Given the description of an element on the screen output the (x, y) to click on. 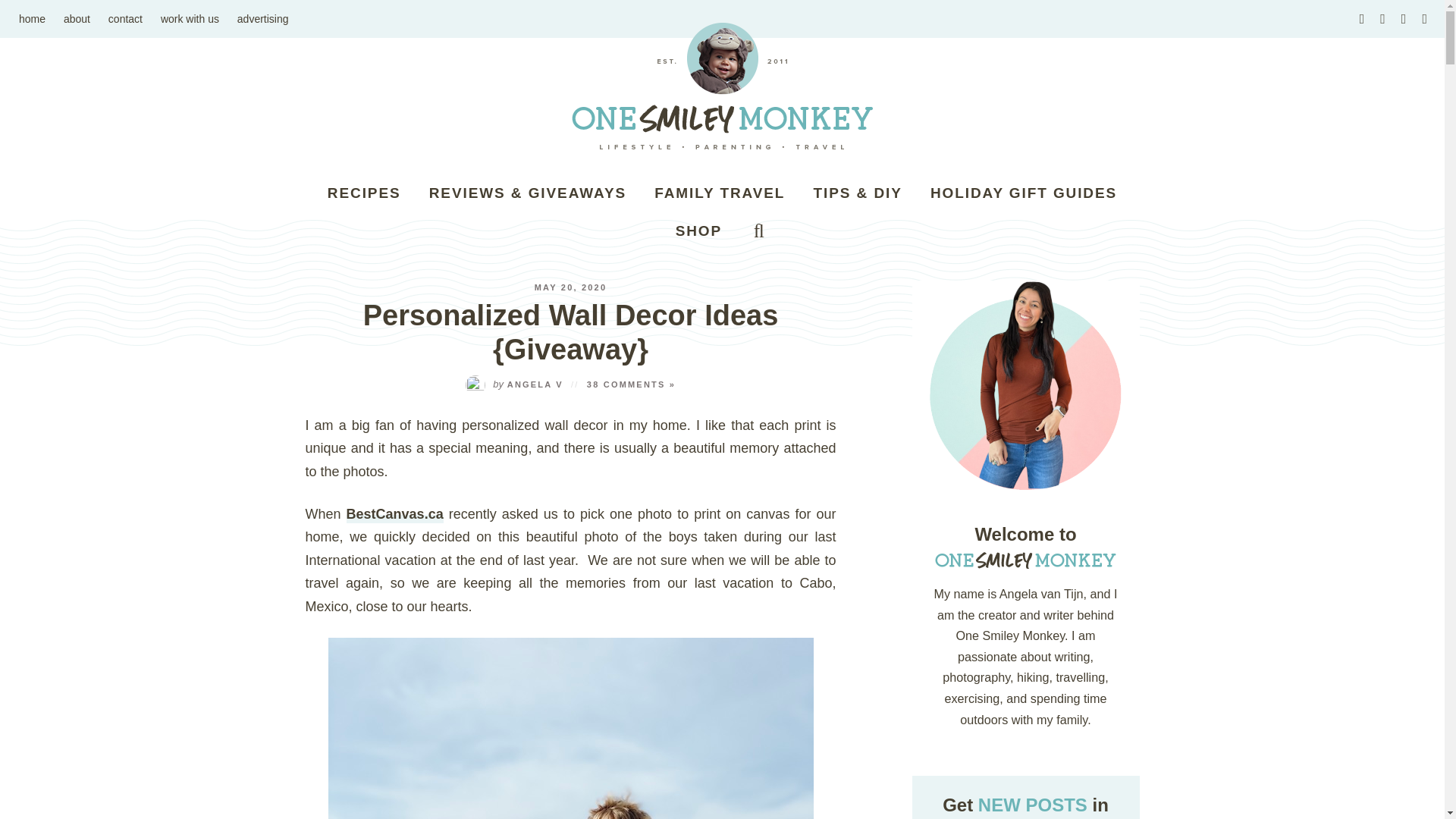
contact (124, 18)
home (31, 18)
work with us (189, 18)
OneSmileyMonkey.com (722, 86)
about (76, 18)
